Given the description of an element on the screen output the (x, y) to click on. 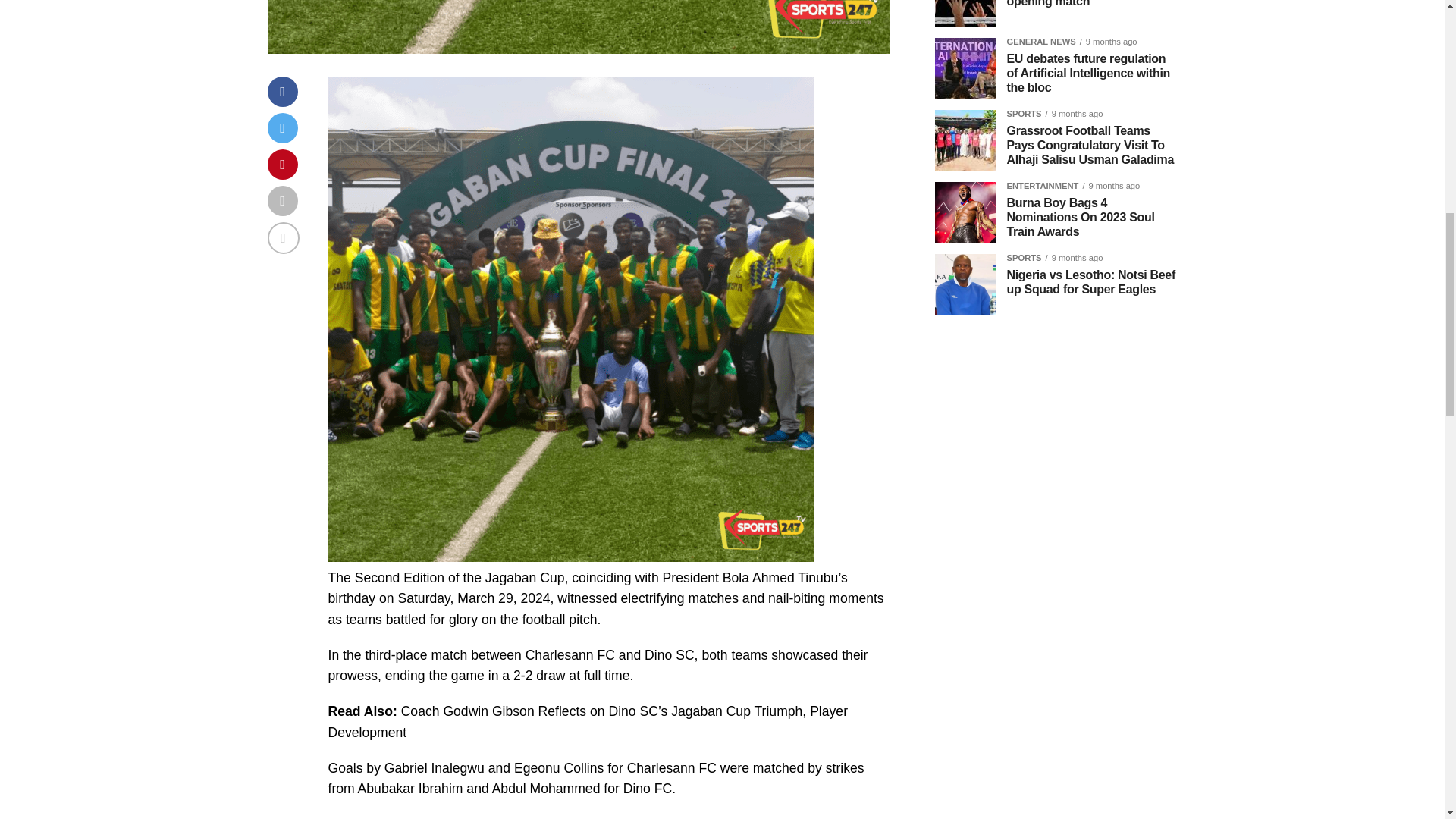
Advertisement (1055, 431)
Advertisement (1055, 643)
Advertisement (1055, 790)
